Given the description of an element on the screen output the (x, y) to click on. 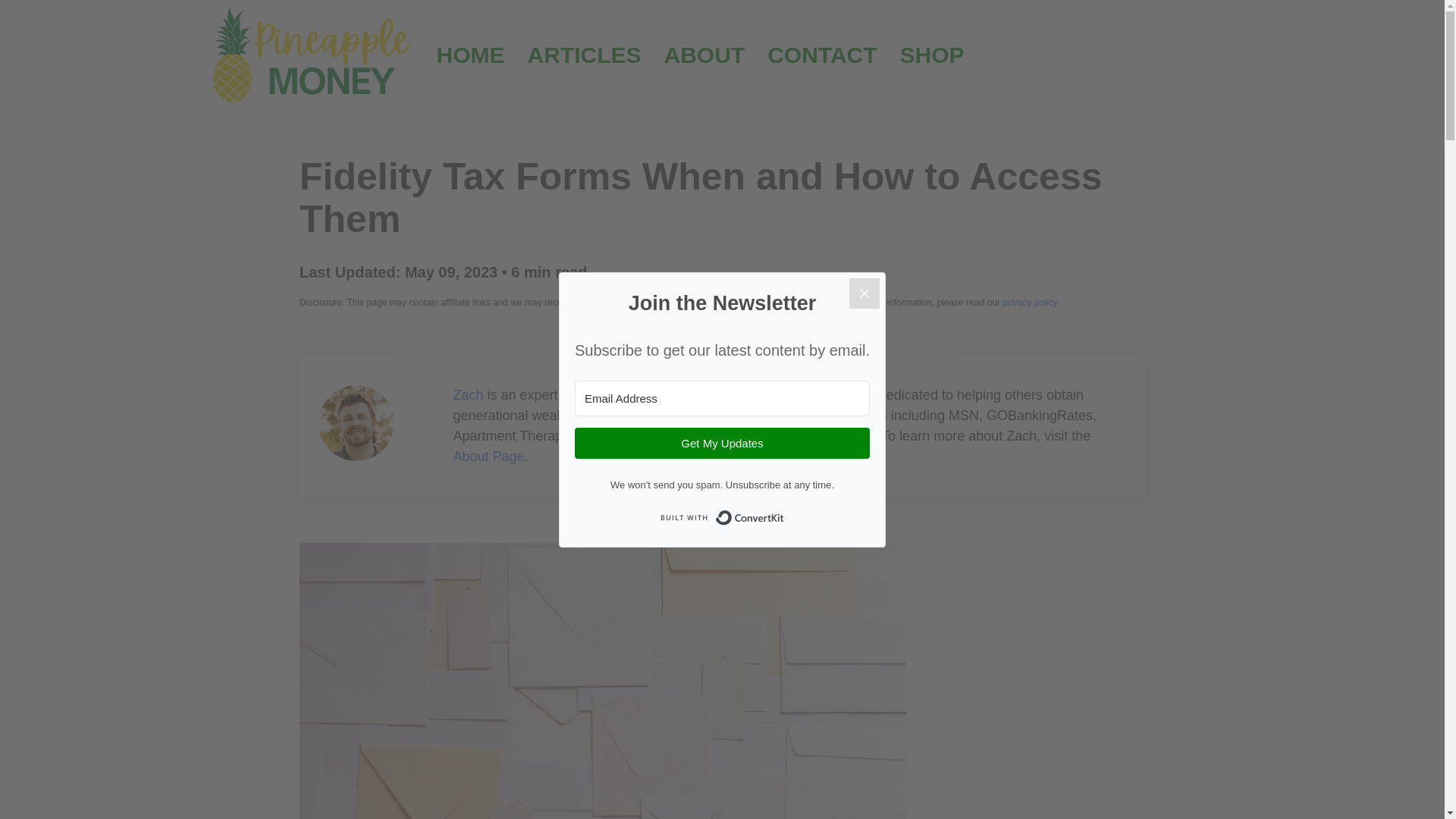
ARTICLES (583, 54)
Logo (313, 54)
SHOP (931, 54)
CONTACT (821, 54)
Get My Updates (722, 442)
Zach (467, 394)
HOME (470, 54)
Built with ConvertKit (721, 516)
privacy policy. (1029, 302)
ABOUT (703, 54)
About Page (488, 456)
